Given the description of an element on the screen output the (x, y) to click on. 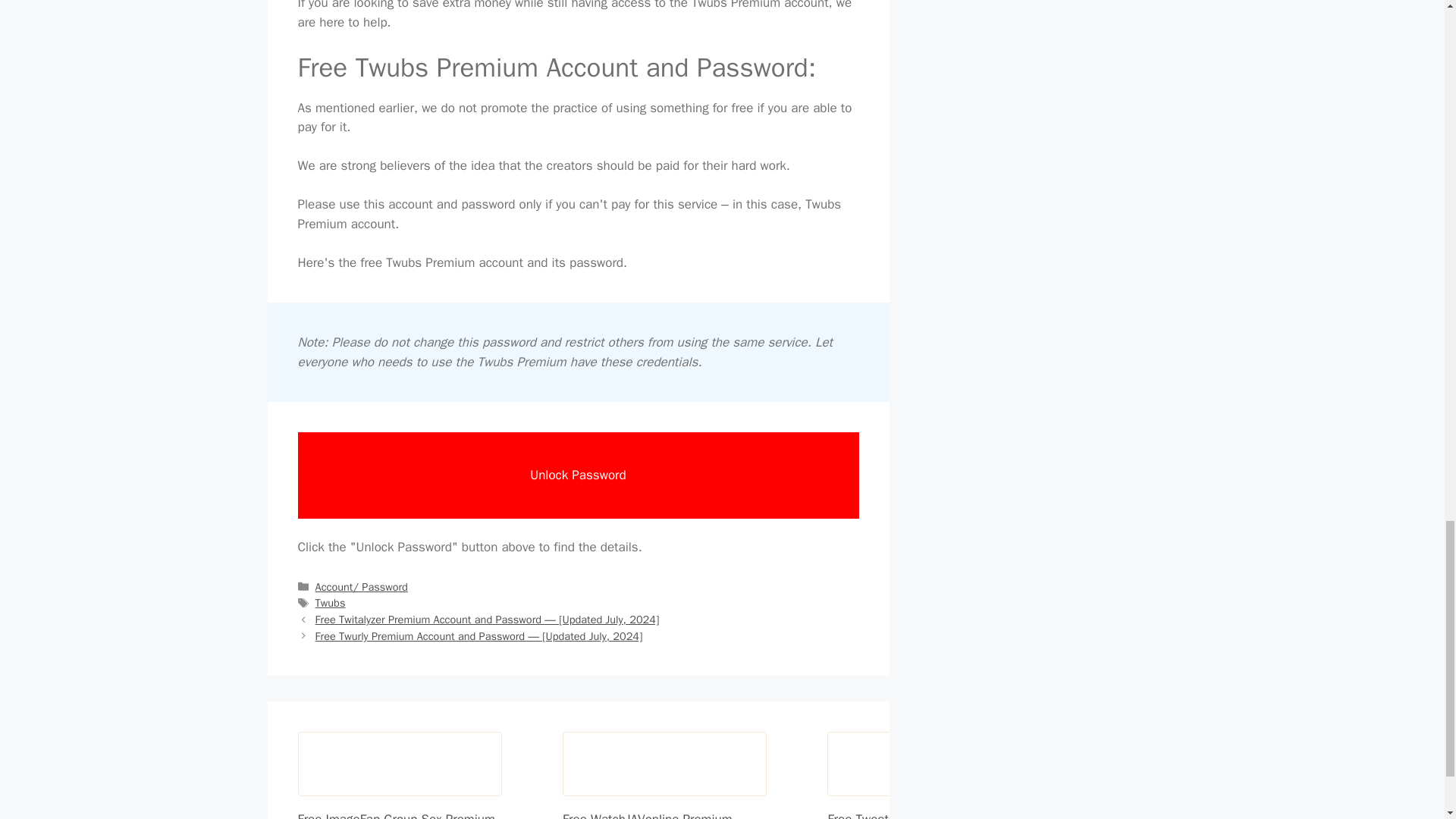
Unlock Password (578, 475)
Previous (487, 619)
Twubs (330, 602)
Next (479, 635)
